Given the description of an element on the screen output the (x, y) to click on. 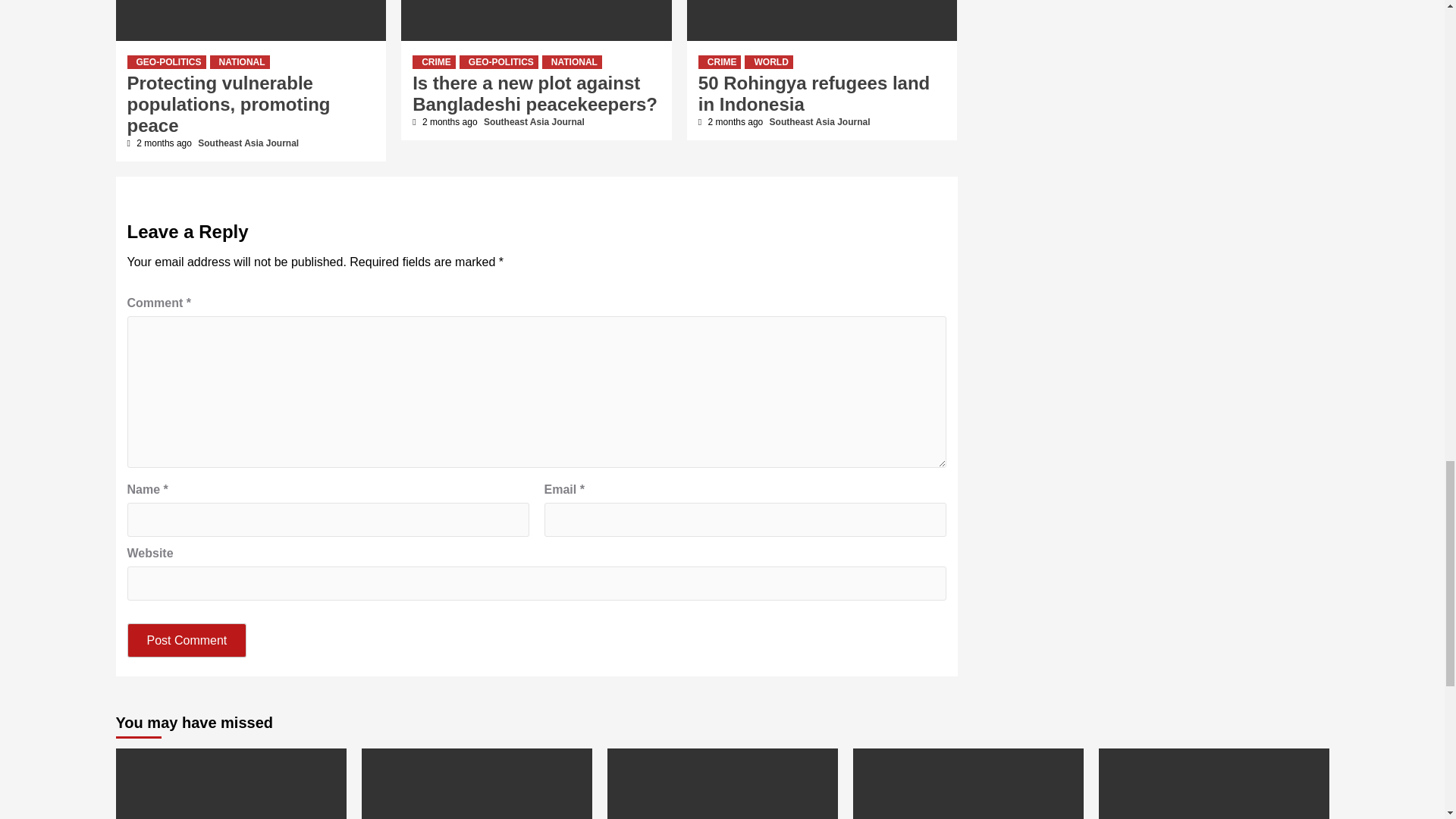
Post Comment (187, 640)
